Given the description of an element on the screen output the (x, y) to click on. 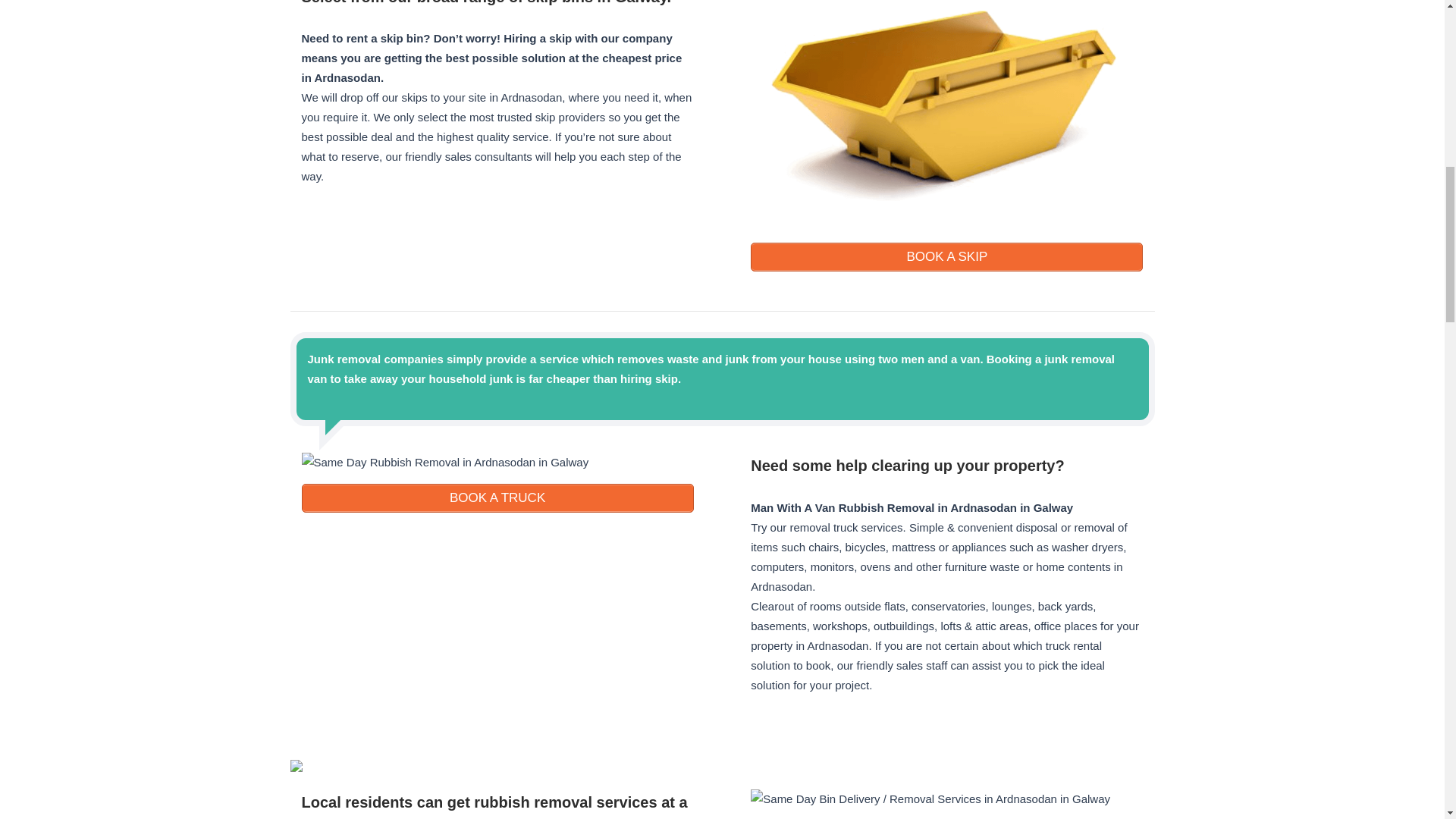
Man with a van near me in Ardnasodan (946, 465)
BOOK A TRUCK (497, 498)
BOOK A SKIP (946, 256)
LEARN MORE (946, 256)
BOOK A TRUCK (497, 498)
